Given the description of an element on the screen output the (x, y) to click on. 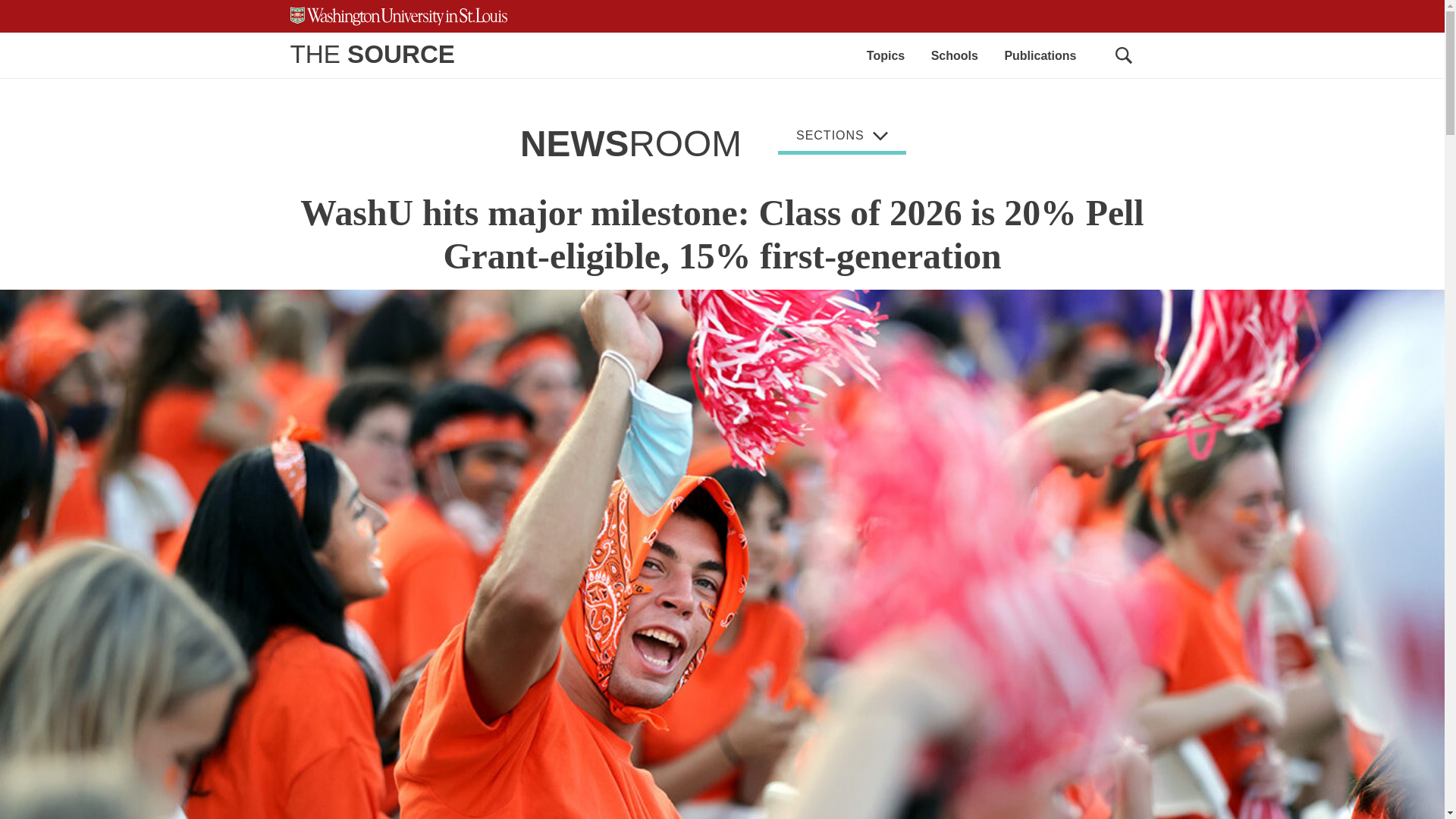
SECTIONS (841, 137)
THE SOURCE (371, 53)
NEWSROOM (630, 143)
Schools (954, 54)
Topics (885, 54)
Publications (1039, 54)
Search (1122, 54)
